Given the description of an element on the screen output the (x, y) to click on. 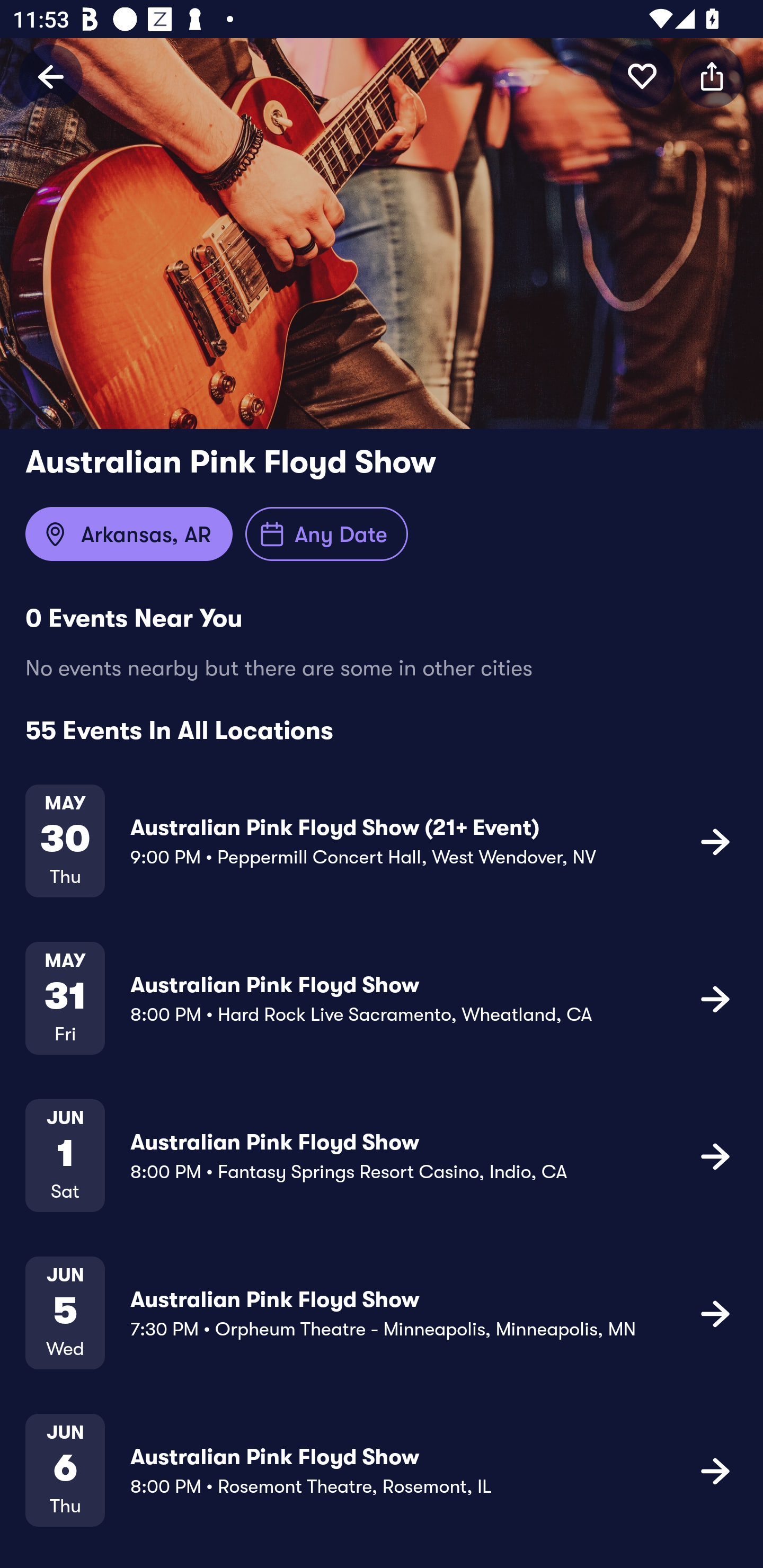
Back (50, 75)
icon button (641, 75)
icon button (711, 75)
Arkansas, AR (128, 533)
Any Date (326, 533)
icon button (714, 840)
icon button (714, 998)
icon button (714, 1155)
icon button (714, 1312)
icon button (714, 1470)
